Given the description of an element on the screen output the (x, y) to click on. 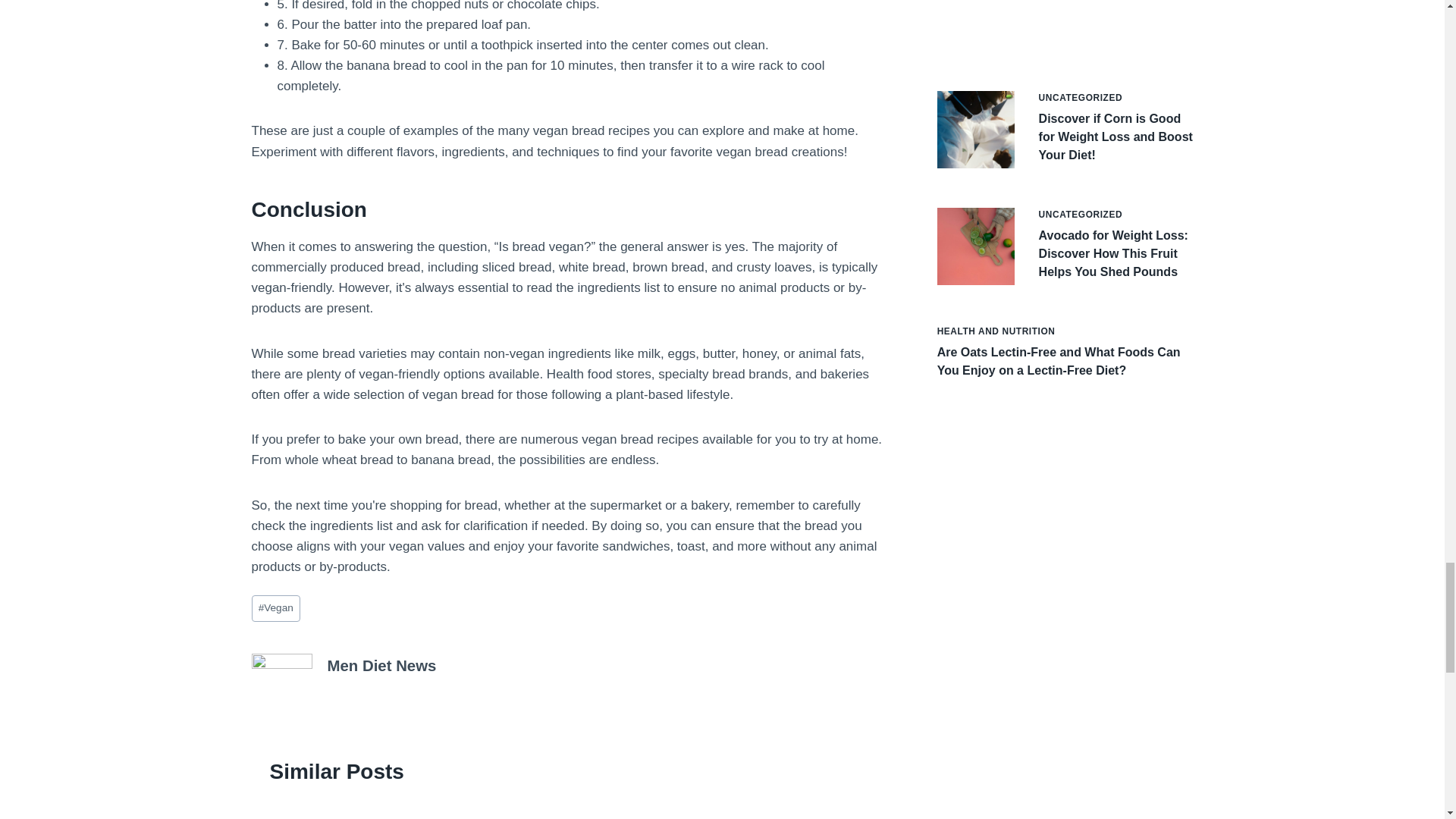
Posts by Men Diet News (381, 665)
Vegan (275, 608)
Men Diet News (381, 665)
